Given the description of an element on the screen output the (x, y) to click on. 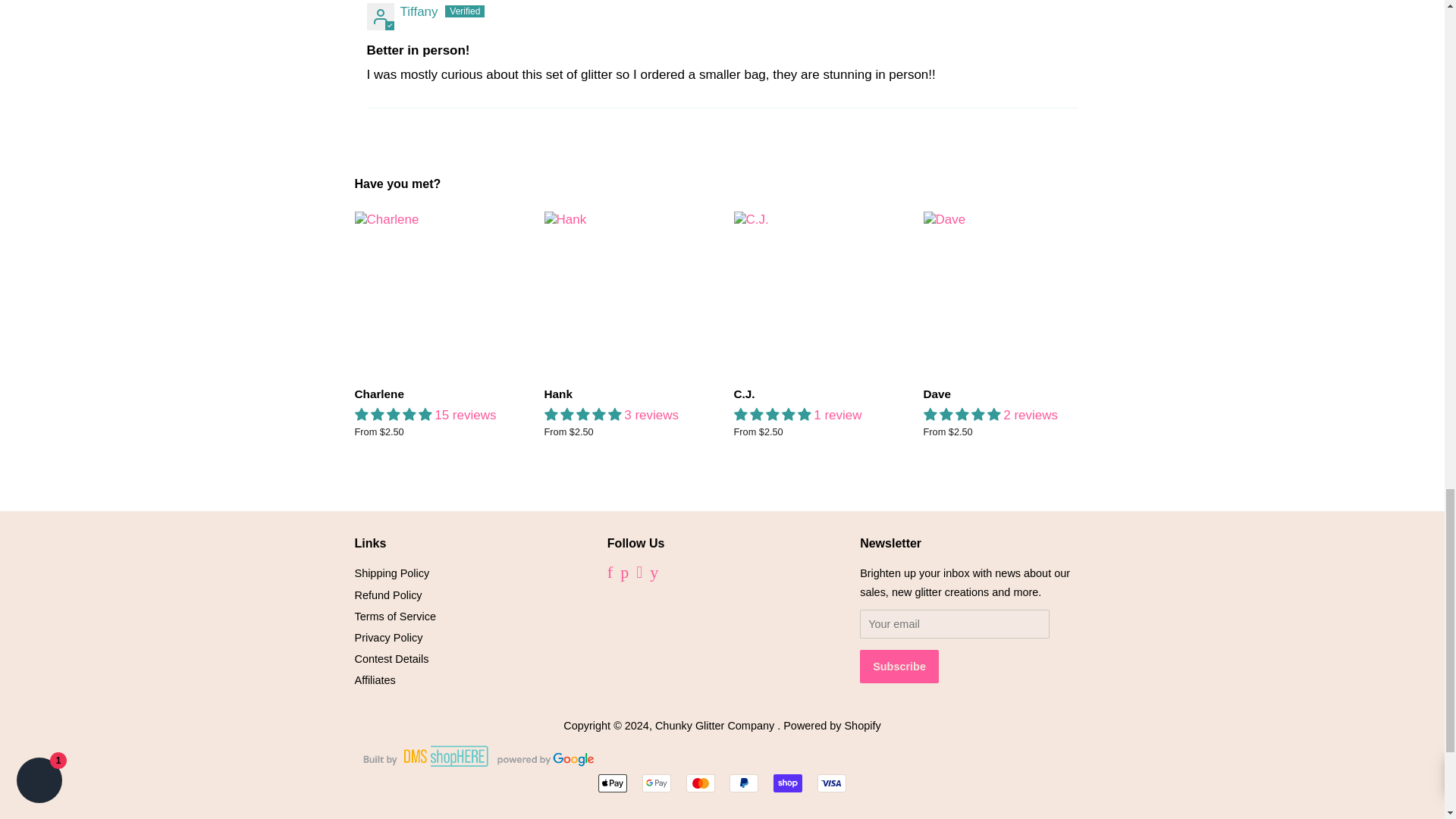
Chunky Glitter Company  on YouTube (653, 573)
PayPal (743, 782)
Apple Pay (612, 782)
Shop Pay (787, 782)
Google Pay (656, 782)
Chunky Glitter Company  on Instagram (639, 573)
Mastercard (699, 782)
Subscribe (899, 666)
Chunky Glitter Company  on Pinterest (624, 573)
Visa (830, 782)
Chunky Glitter Company  on Facebook (609, 573)
